Given the description of an element on the screen output the (x, y) to click on. 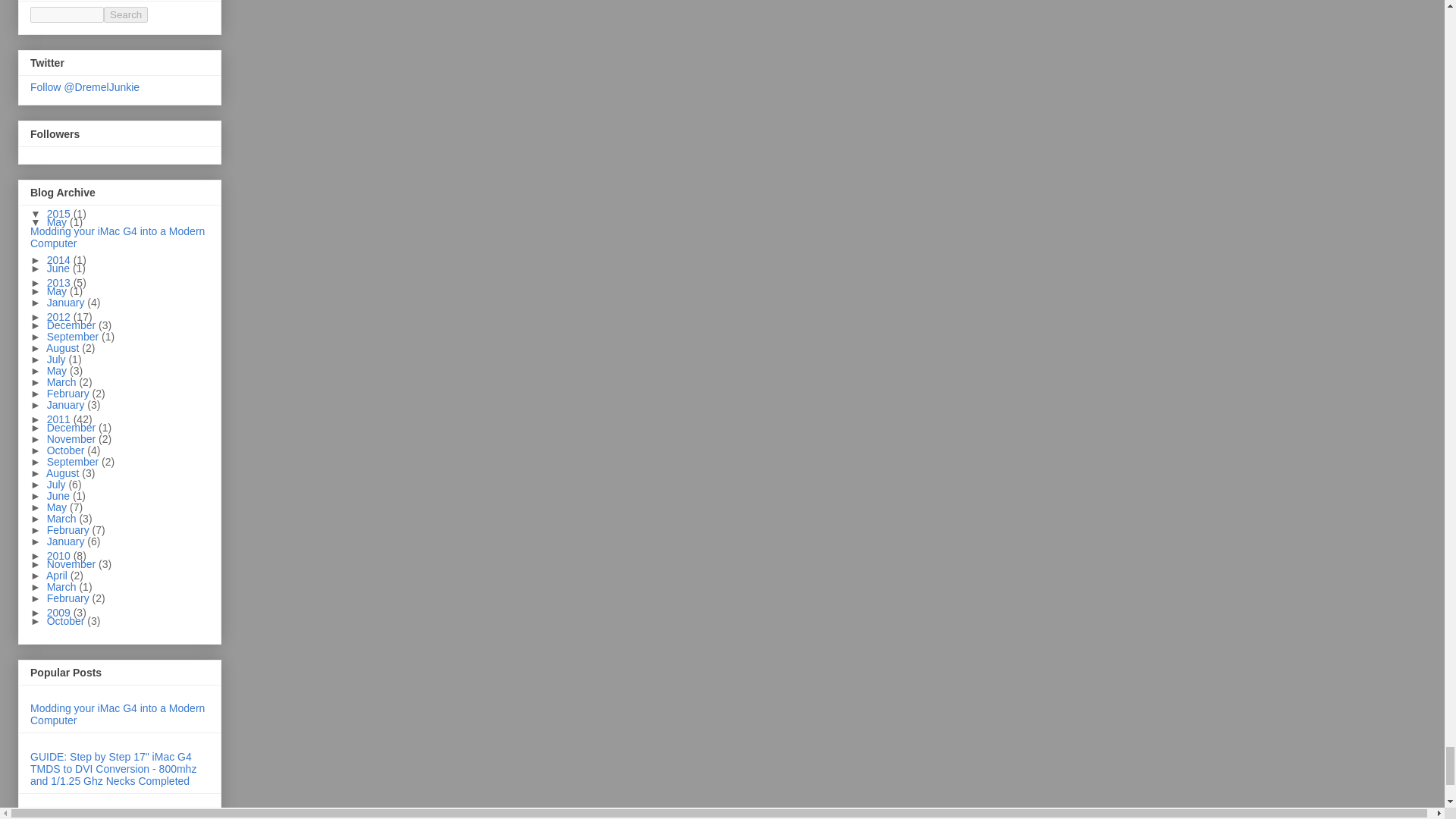
Search (125, 14)
Search (125, 14)
